Given the description of an element on the screen output the (x, y) to click on. 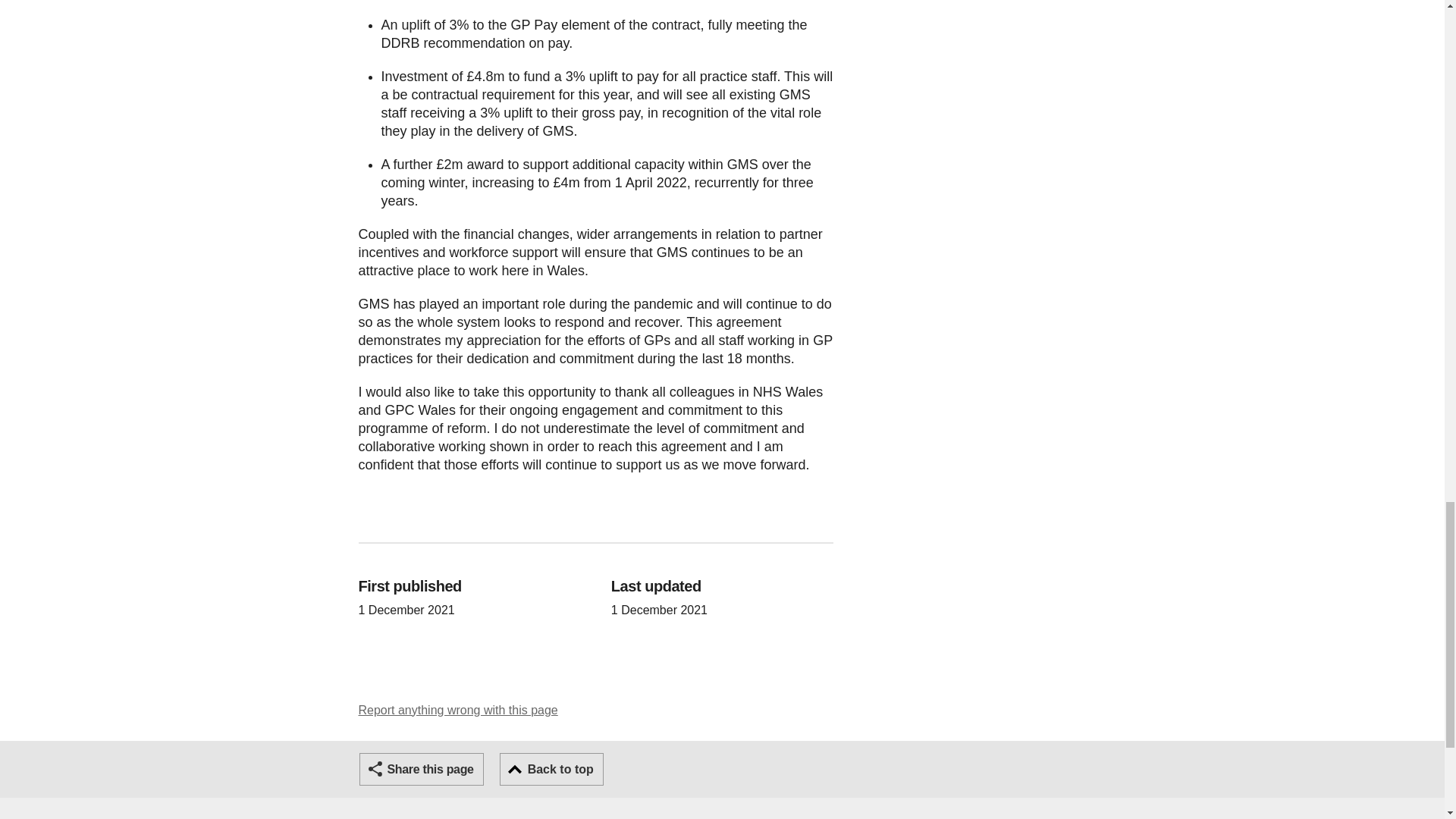
Report anything wrong with this page (457, 709)
Share this page (421, 768)
Back to top (551, 768)
